Given the description of an element on the screen output the (x, y) to click on. 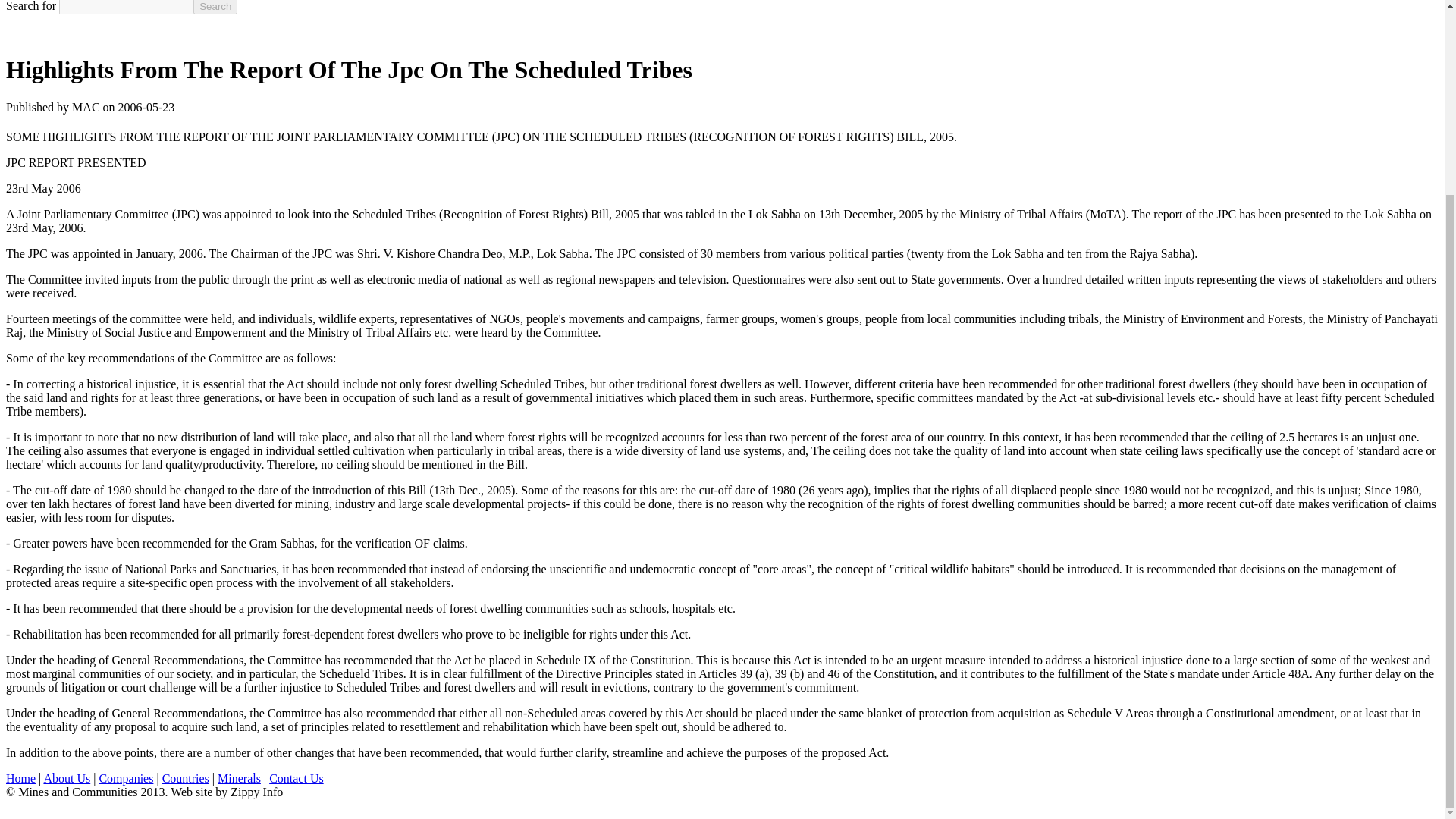
Search (215, 7)
About Us (66, 778)
Minerals (238, 778)
Search (215, 7)
Companies (125, 778)
Contact Us (296, 778)
Home (19, 778)
Countries (185, 778)
